Given the description of an element on the screen output the (x, y) to click on. 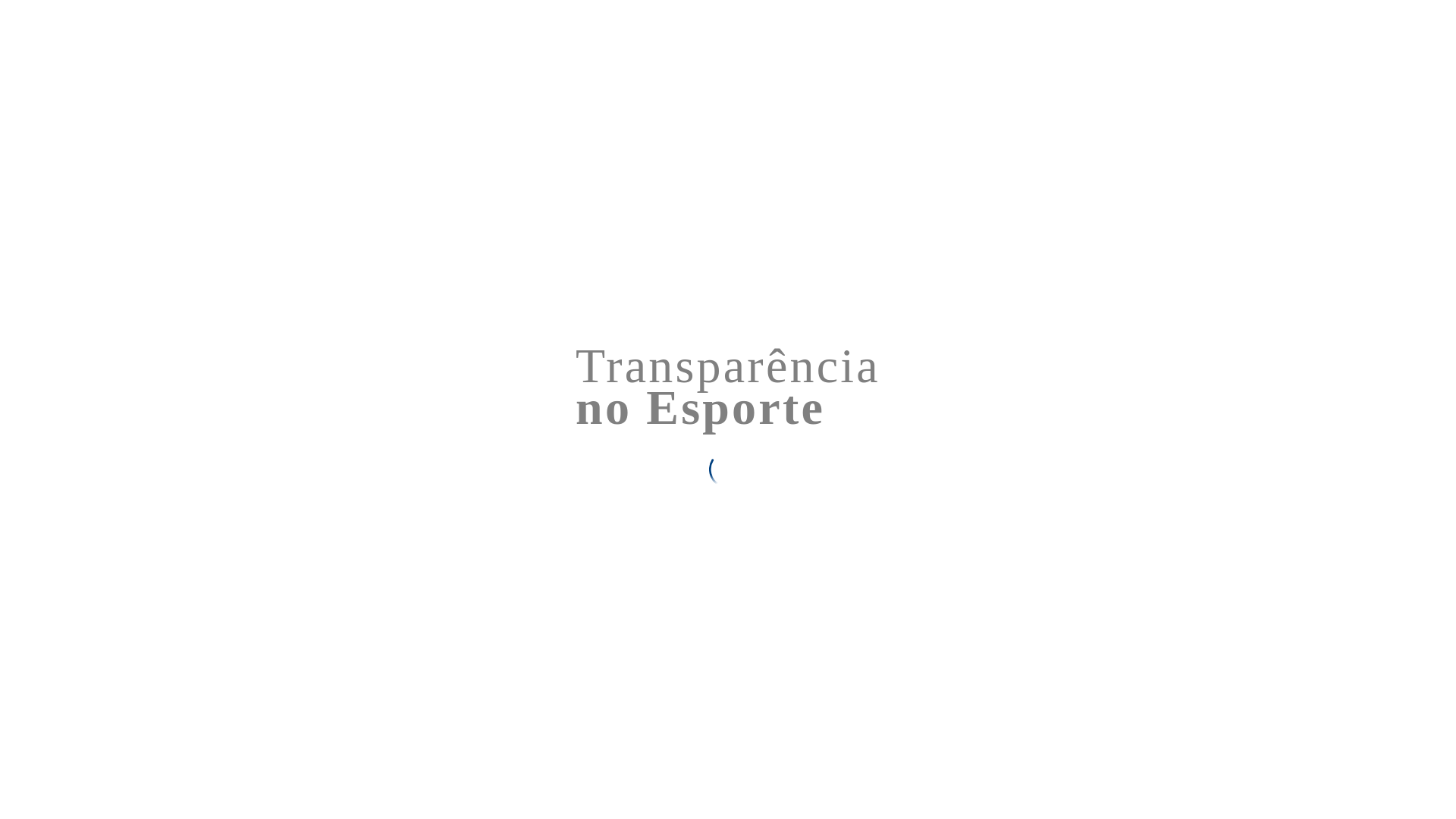
transparenciaesporte@gmail.com Element type: text (385, 147)
Metodologia Element type: text (1327, 17)
(61)3107-2581 Element type: text (335, 95)
Sobre Element type: text (1265, 17)
